Given the description of an element on the screen output the (x, y) to click on. 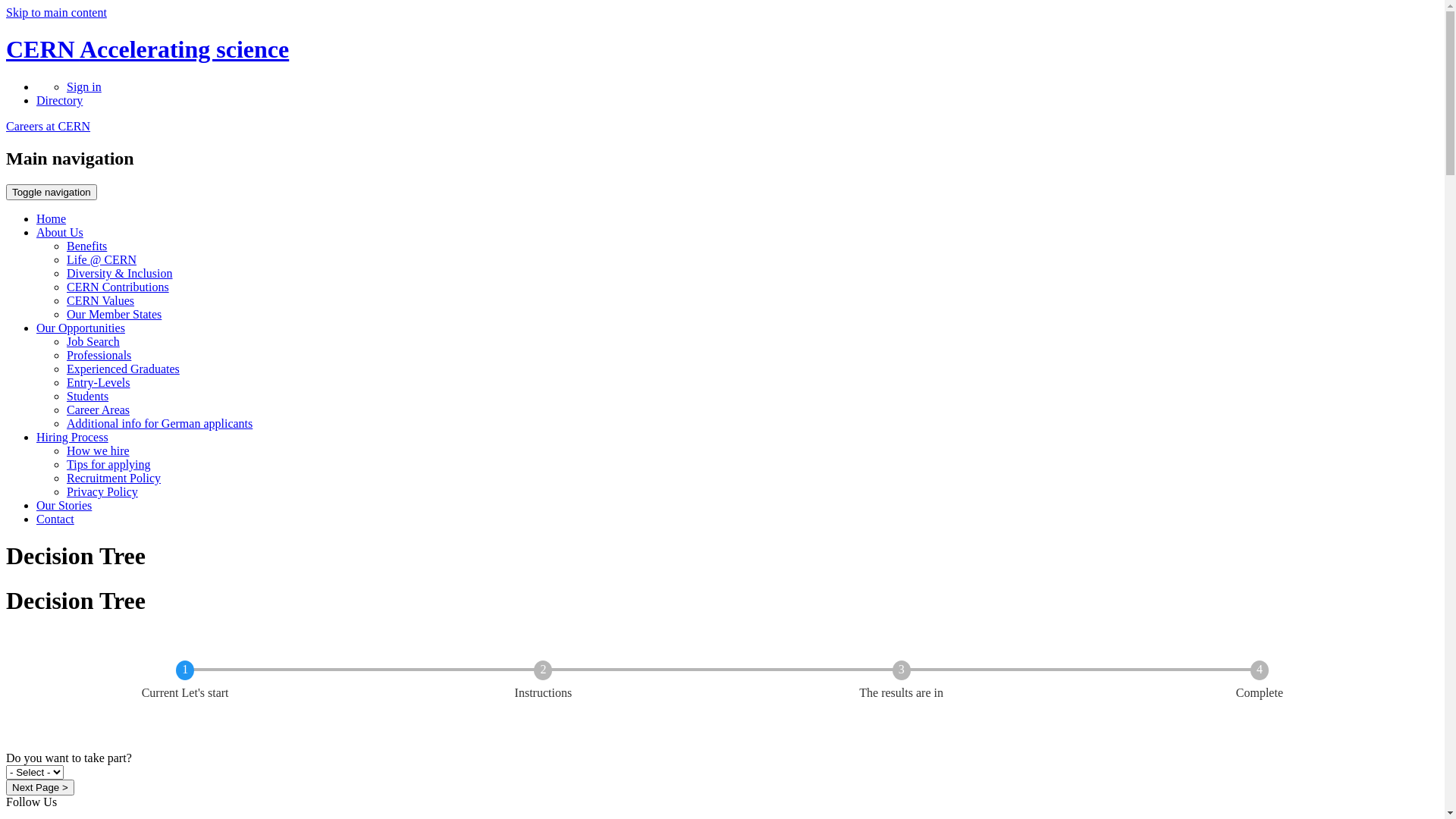
Privacy Policy Element type: text (102, 491)
Directory Element type: text (59, 100)
Our Member States Element type: text (113, 313)
Home Element type: text (50, 218)
Our Opportunities Element type: text (80, 327)
Skip to main content Element type: text (56, 12)
Students Element type: text (87, 395)
Life @ CERN Element type: text (101, 259)
CERN Values Element type: text (100, 300)
Experienced Graduates Element type: text (122, 368)
Toggle navigation Element type: text (51, 192)
How we hire Element type: text (97, 450)
Professionals Element type: text (98, 354)
Next Page > Element type: text (40, 787)
Career Areas Element type: text (97, 409)
CERN Contributions Element type: text (117, 286)
Contact Element type: text (55, 518)
Job Search Element type: text (92, 341)
Our Stories Element type: text (63, 504)
Diversity & Inclusion Element type: text (119, 272)
Sign in Element type: text (83, 86)
Careers at CERN Element type: text (48, 125)
Hiring Process Element type: text (72, 436)
Benefits Element type: text (86, 245)
CERN Accelerating science Element type: text (147, 48)
Recruitment Policy Element type: text (113, 477)
Tips for applying Element type: text (108, 464)
About Us Element type: text (59, 231)
Entry-Levels Element type: text (98, 382)
Additional info for German applicants Element type: text (159, 423)
